Given the description of an element on the screen output the (x, y) to click on. 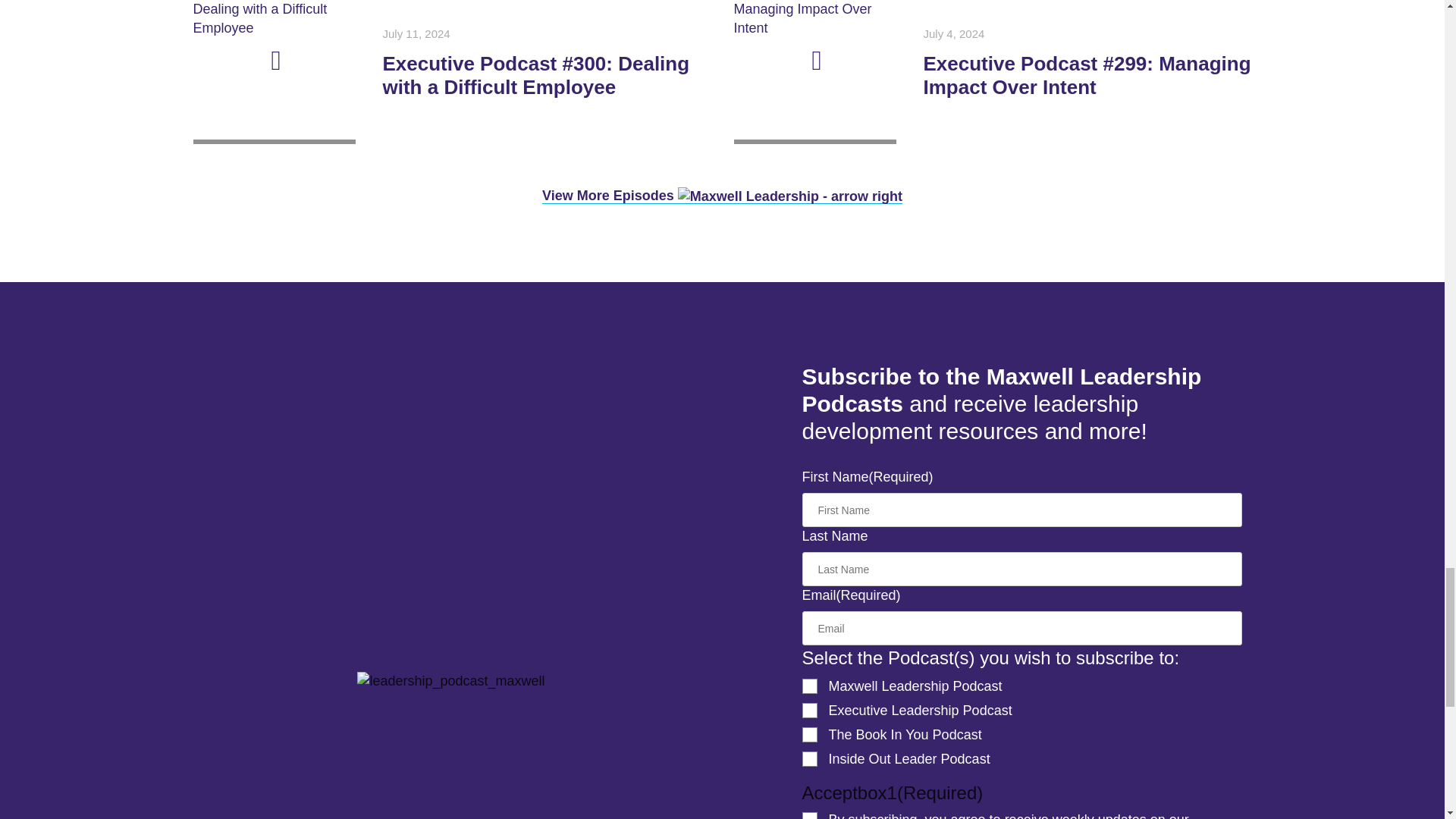
Podcast (721, 195)
